Given the description of an element on the screen output the (x, y) to click on. 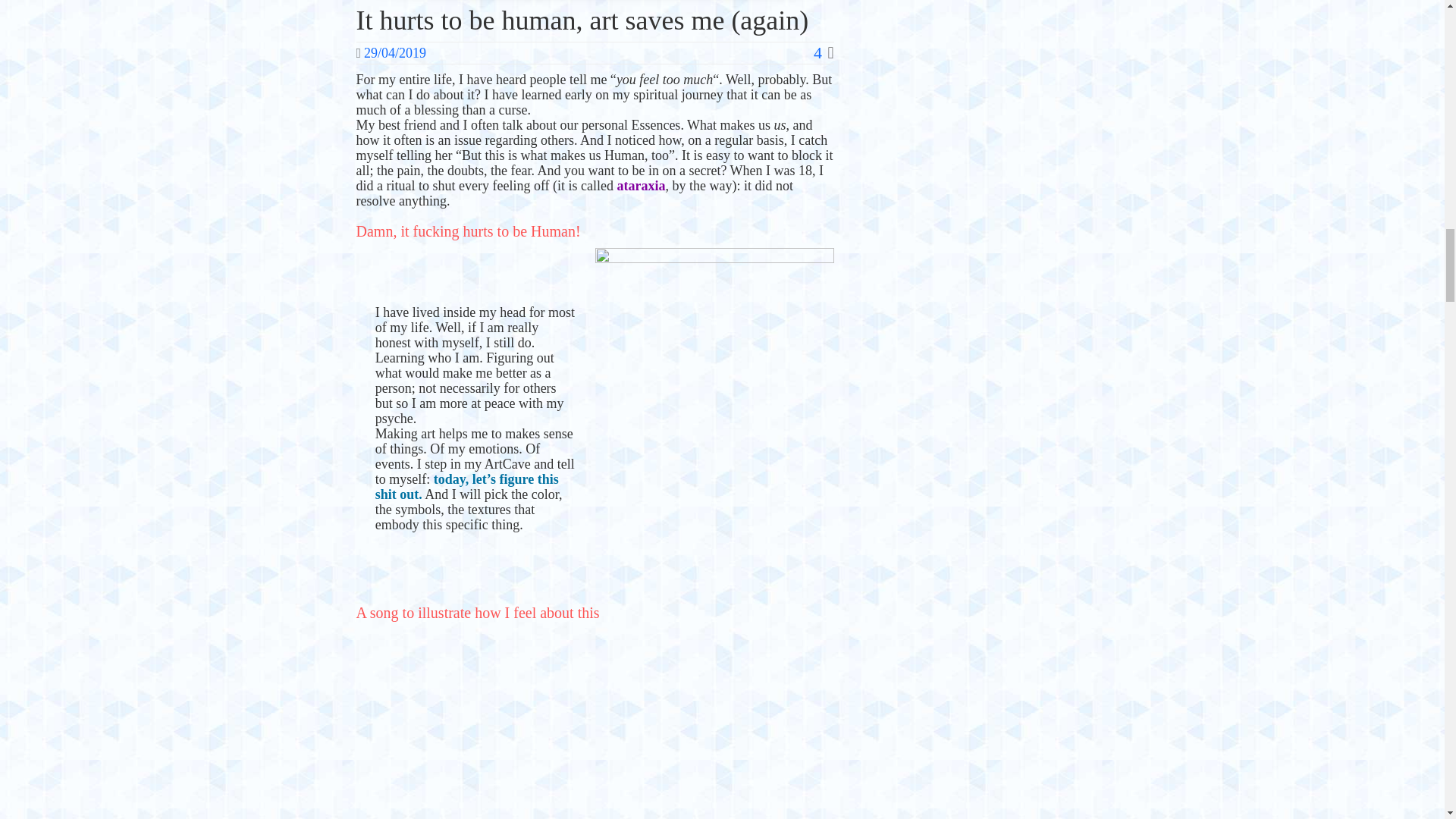
ataraxia (641, 185)
4 (823, 52)
